Given the description of an element on the screen output the (x, y) to click on. 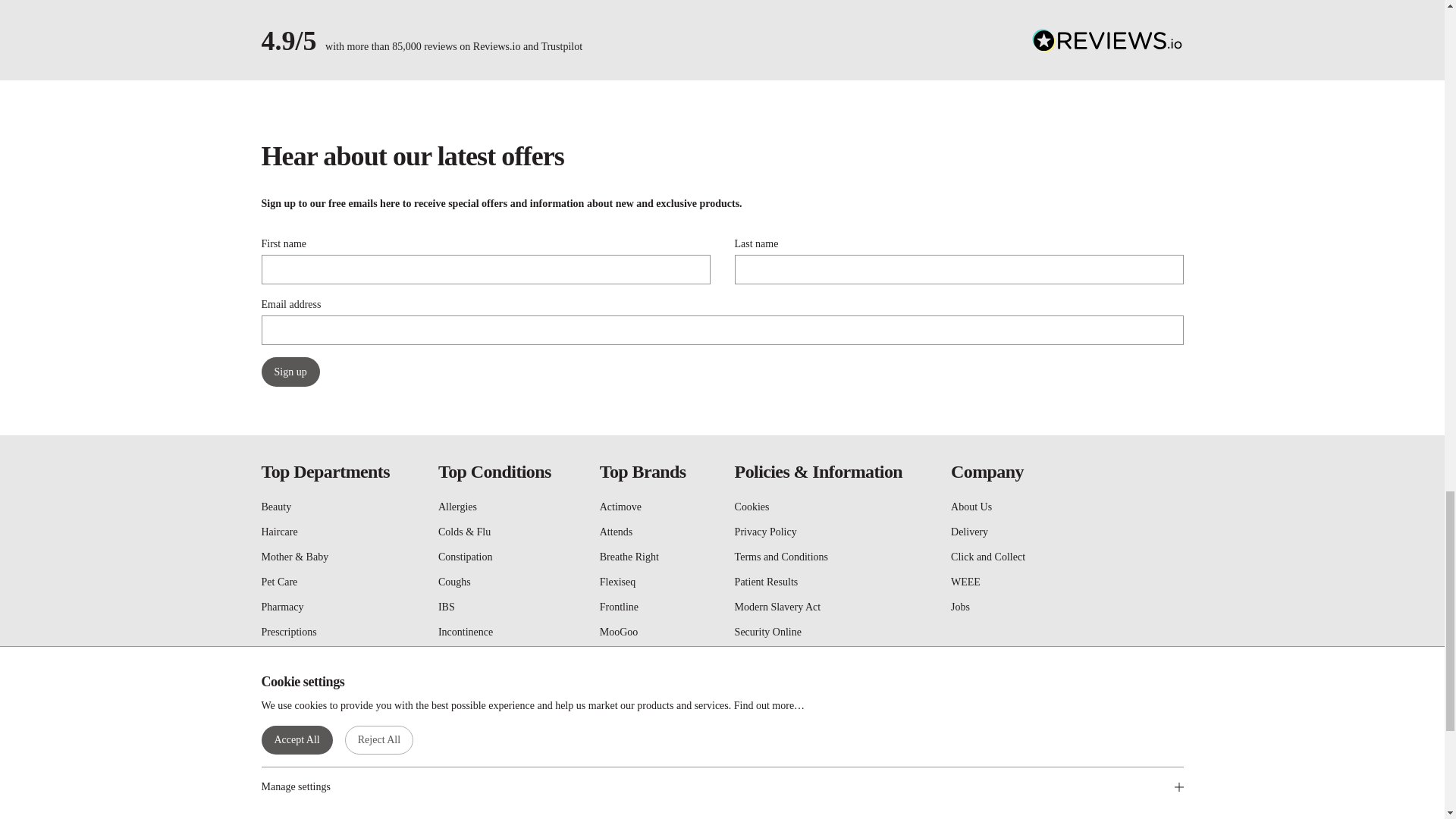
Sign up (289, 371)
